Given the description of an element on the screen output the (x, y) to click on. 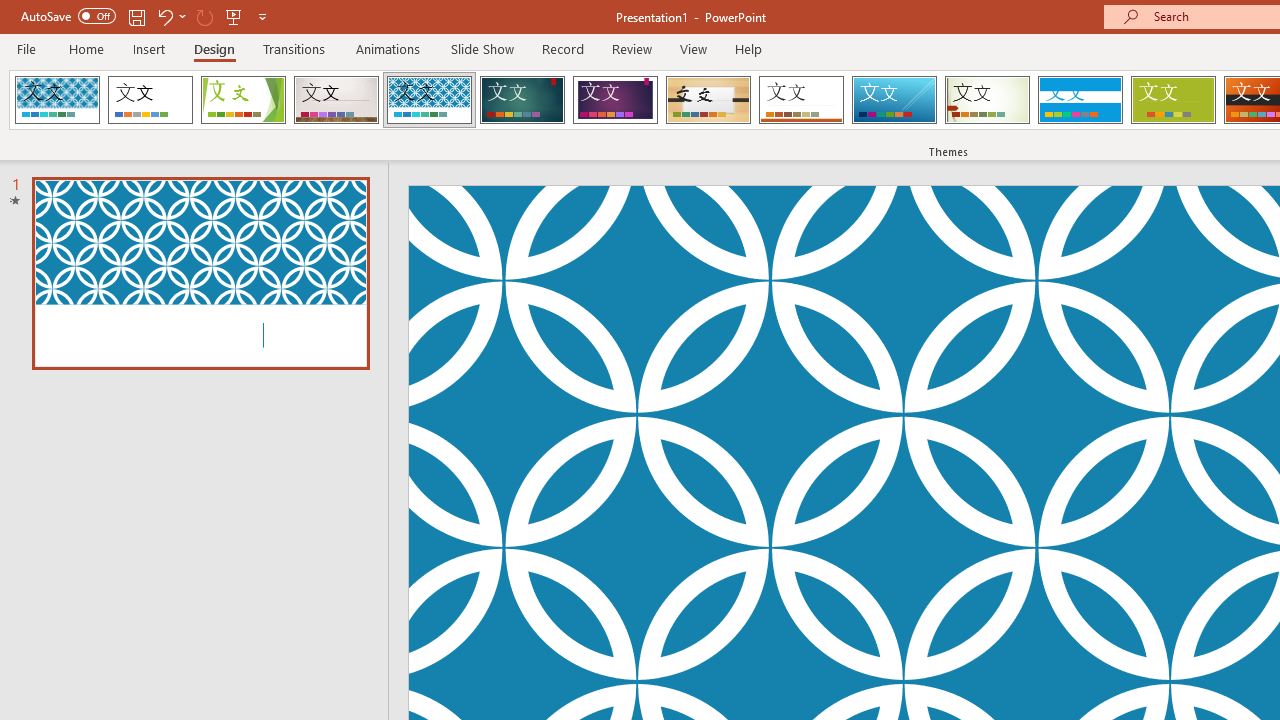
Ion Loading Preview... (522, 100)
Basis Loading Preview... (1172, 100)
Retrospect Loading Preview... (801, 100)
Wisp Loading Preview... (987, 100)
